Given the description of an element on the screen output the (x, y) to click on. 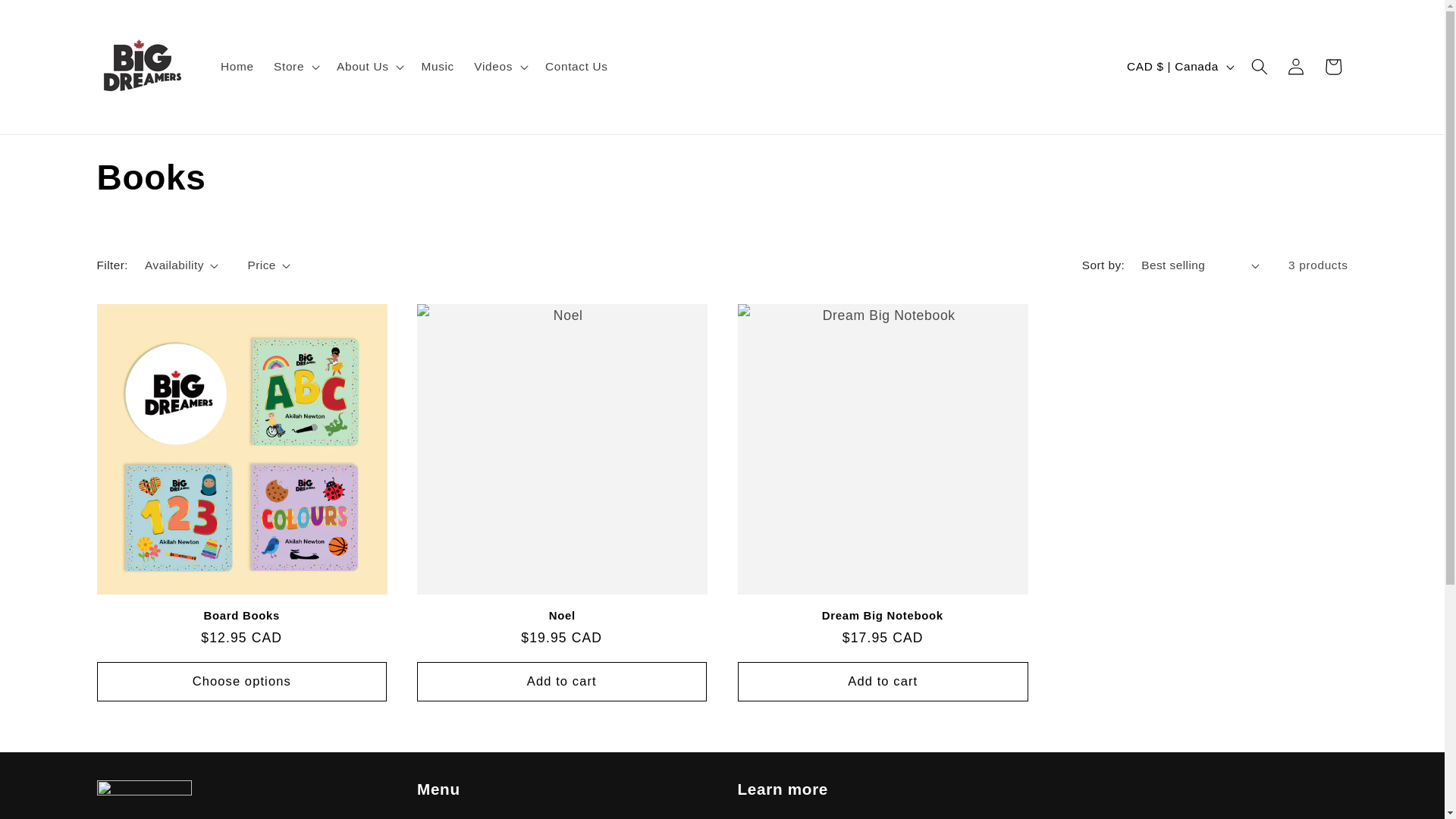
Contact Us Element type: text (576, 66)
Choose options Element type: text (242, 681)
CAD $ | Canada Element type: text (1179, 66)
Music Element type: text (437, 66)
Noel Element type: text (562, 615)
Cart Element type: text (1332, 66)
Board Books Element type: text (242, 615)
Add to cart Element type: text (882, 681)
Home Element type: text (236, 66)
Add to cart Element type: text (562, 681)
Log in Element type: text (1295, 66)
Dream Big Notebook Element type: text (882, 615)
